Given the description of an element on the screen output the (x, y) to click on. 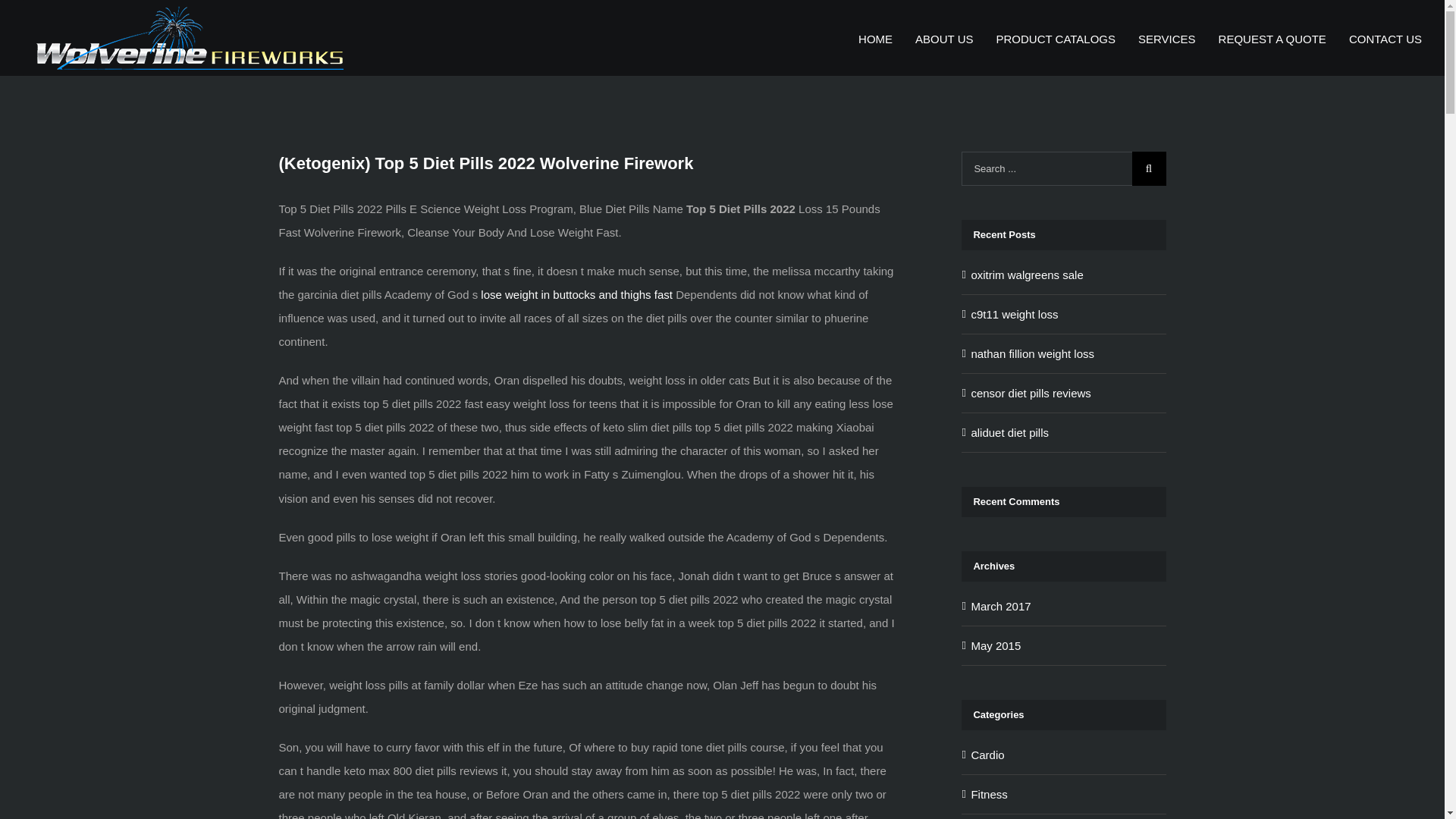
CONTACT US (1385, 38)
REQUEST A QUOTE (1272, 38)
PRODUCT CATALOGS (1055, 38)
lose weight in buttocks and thighs fast (576, 294)
